Given the description of an element on the screen output the (x, y) to click on. 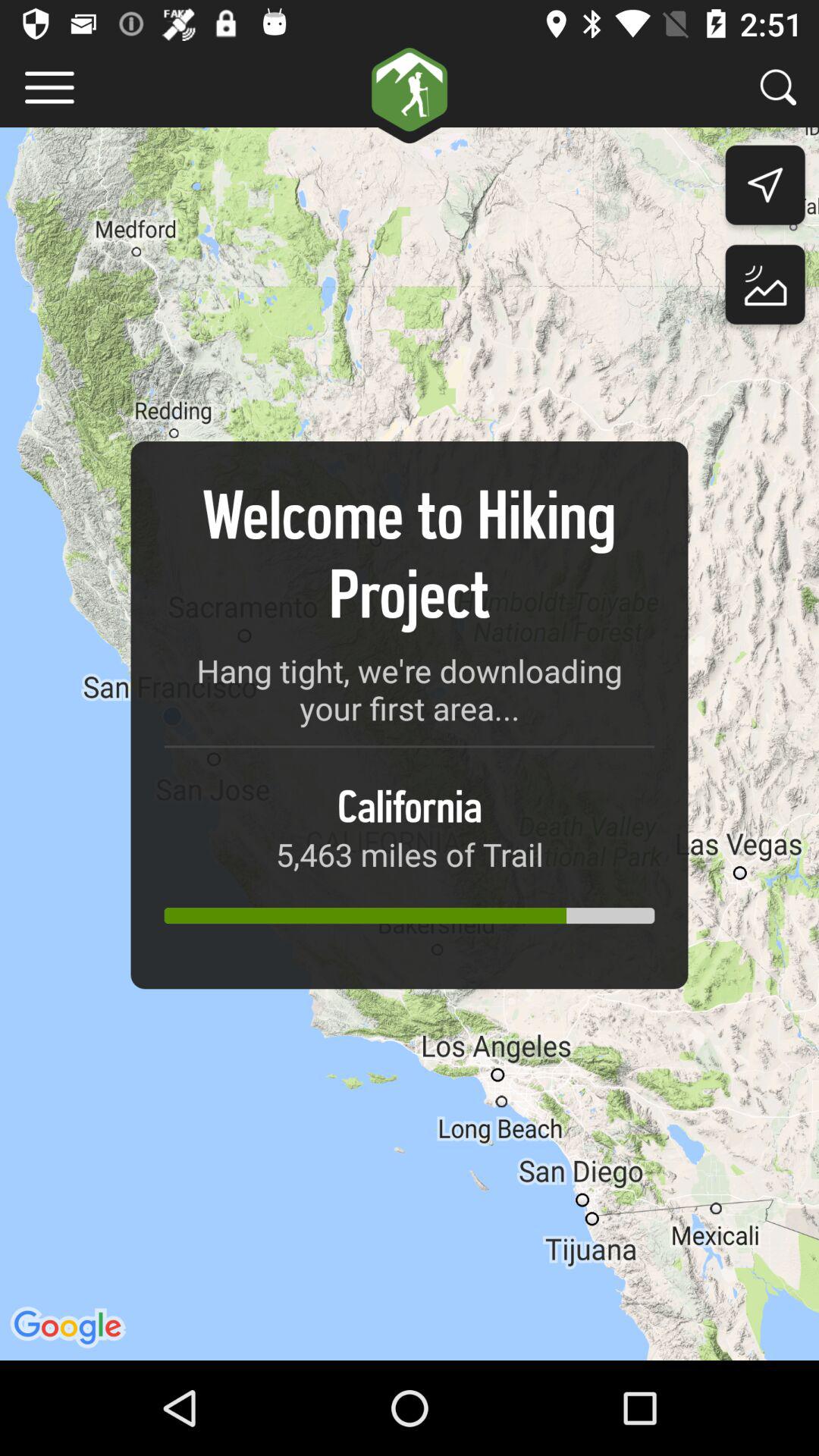
open main menu (49, 87)
